Given the description of an element on the screen output the (x, y) to click on. 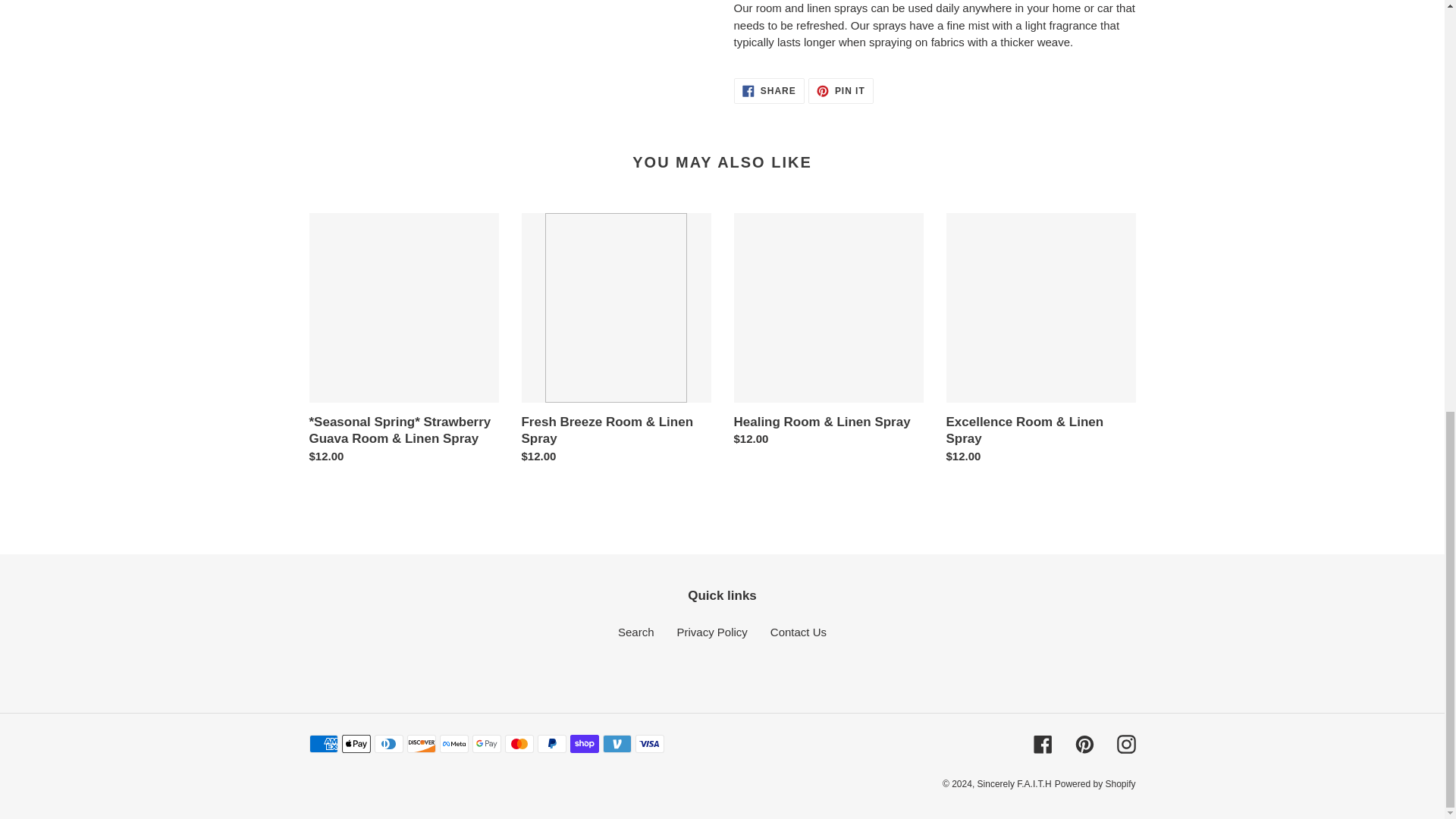
Search (635, 631)
Contact Us (798, 631)
Pinterest (840, 90)
Facebook (1084, 743)
Privacy Policy (769, 90)
